Given the description of an element on the screen output the (x, y) to click on. 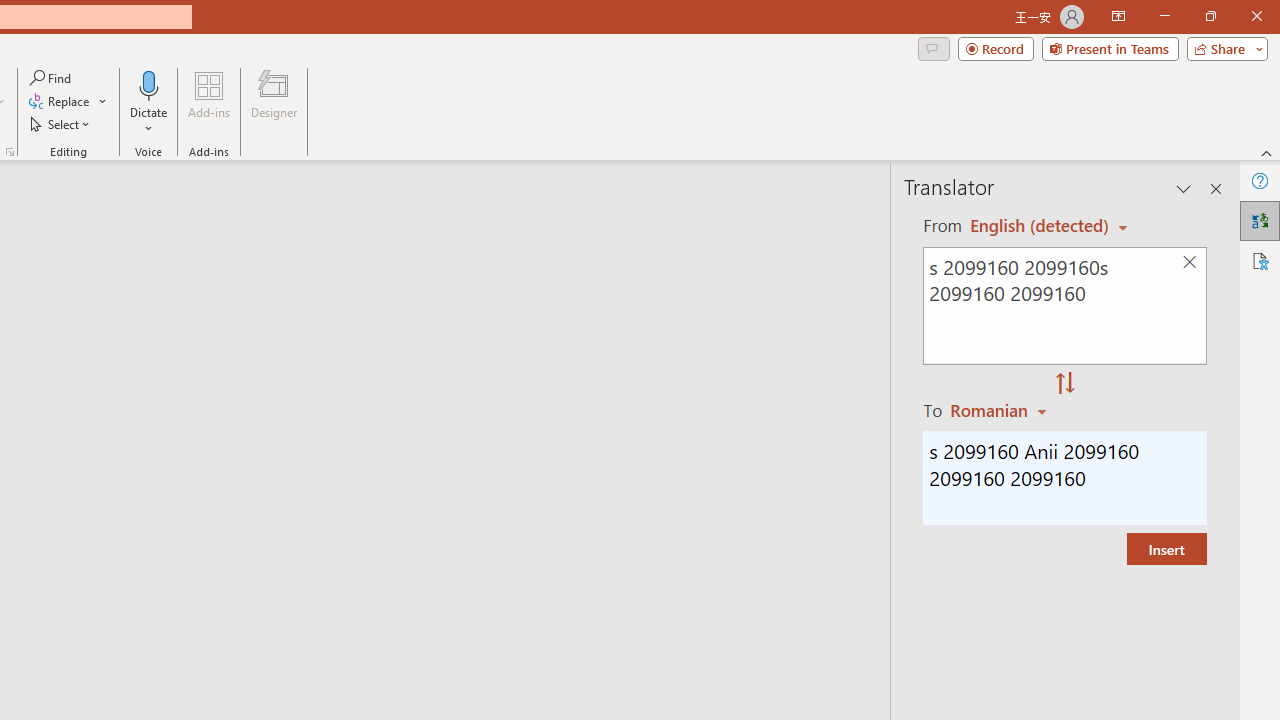
Romanian (1001, 409)
Swap "from" and "to" languages. (1065, 383)
Czech (detected) (1039, 225)
Format Object... (9, 151)
